Given the description of an element on the screen output the (x, y) to click on. 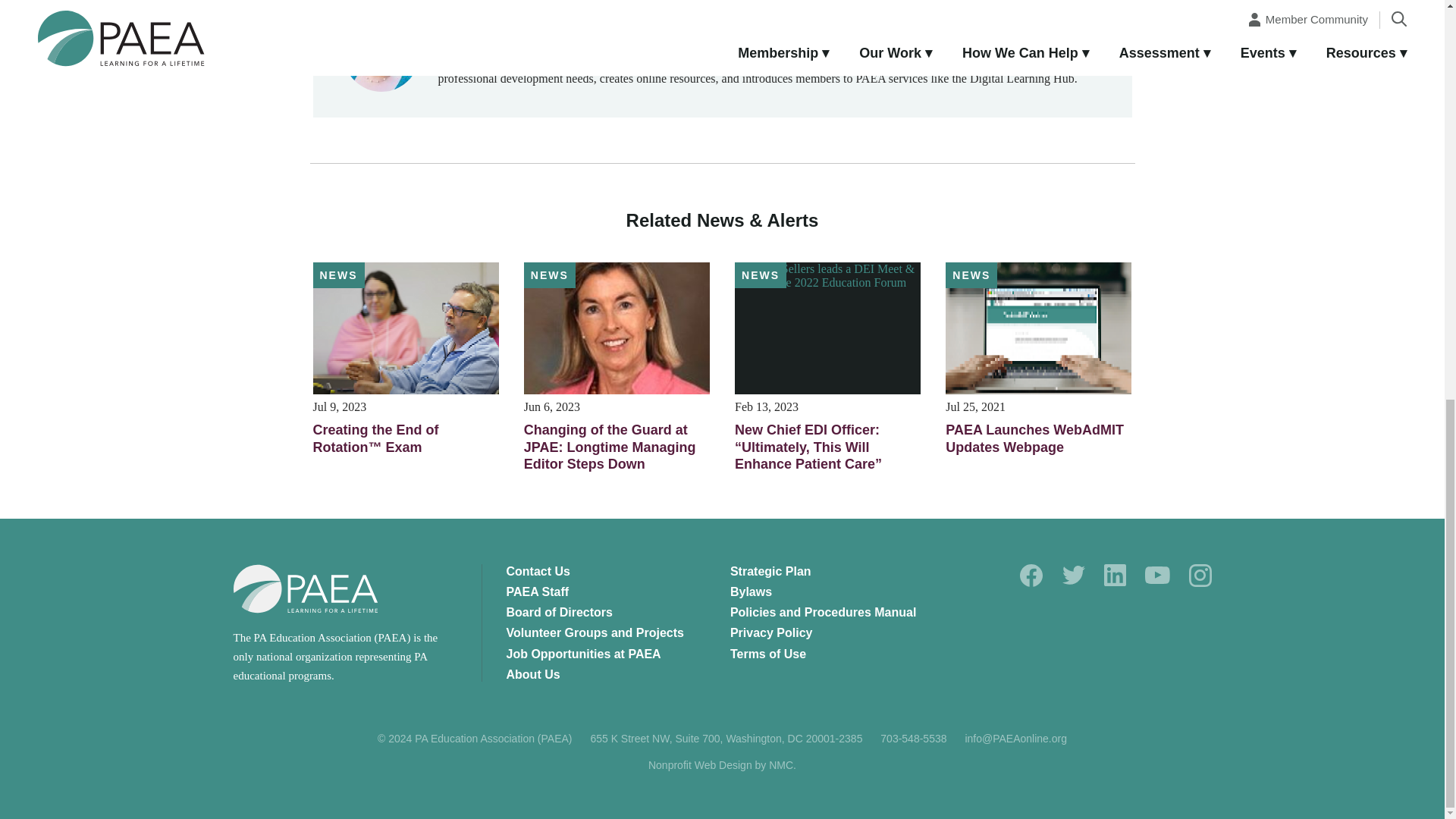
homepage (305, 588)
